Given the description of an element on the screen output the (x, y) to click on. 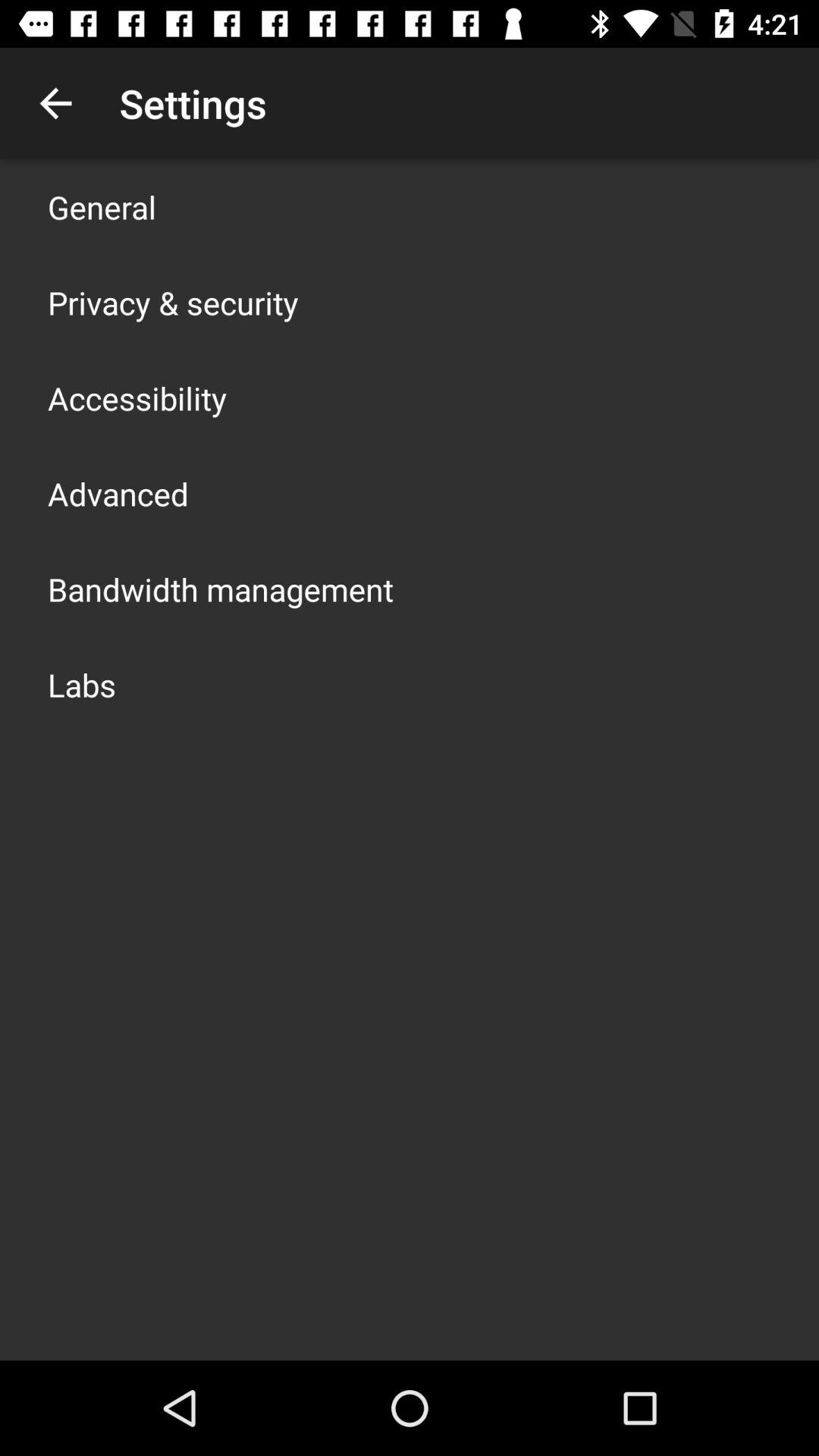
swipe until the privacy & security icon (172, 302)
